Given the description of an element on the screen output the (x, y) to click on. 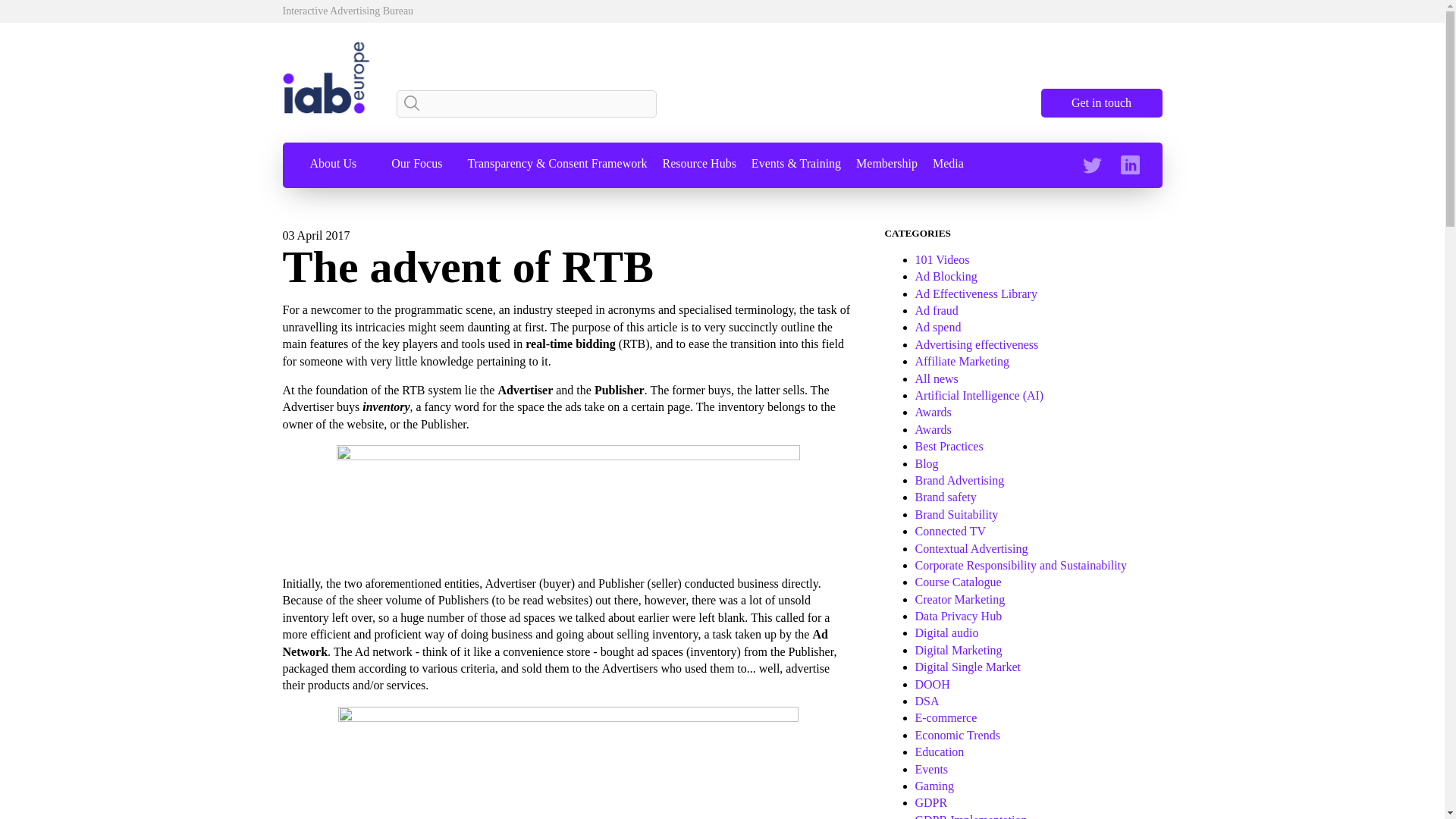
Our Focus (416, 163)
Search (408, 103)
About Us (332, 163)
Search (408, 103)
Get in touch (1101, 102)
